Given the description of an element on the screen output the (x, y) to click on. 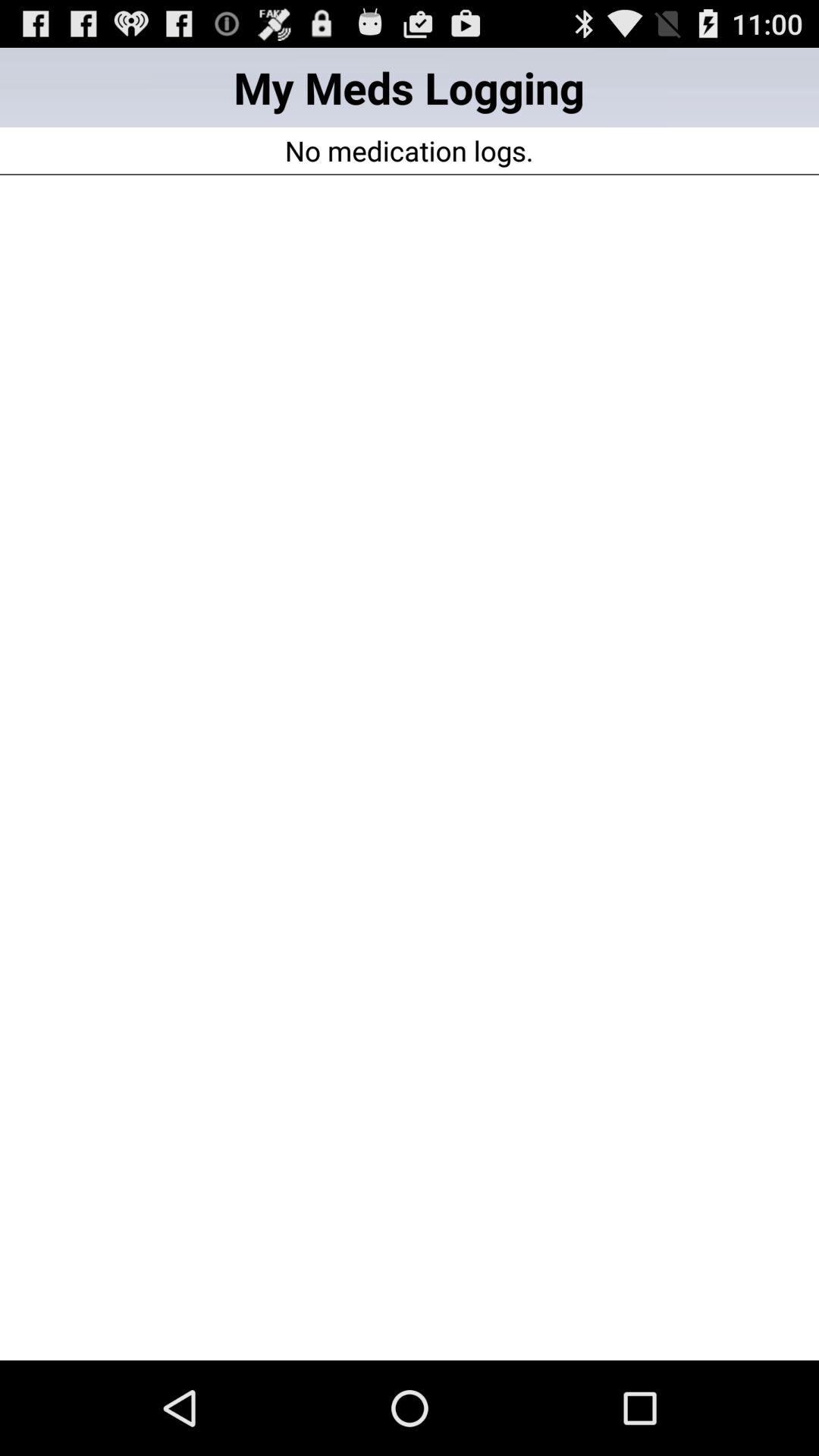
turn on item below the my meds logging app (409, 150)
